Given the description of an element on the screen output the (x, y) to click on. 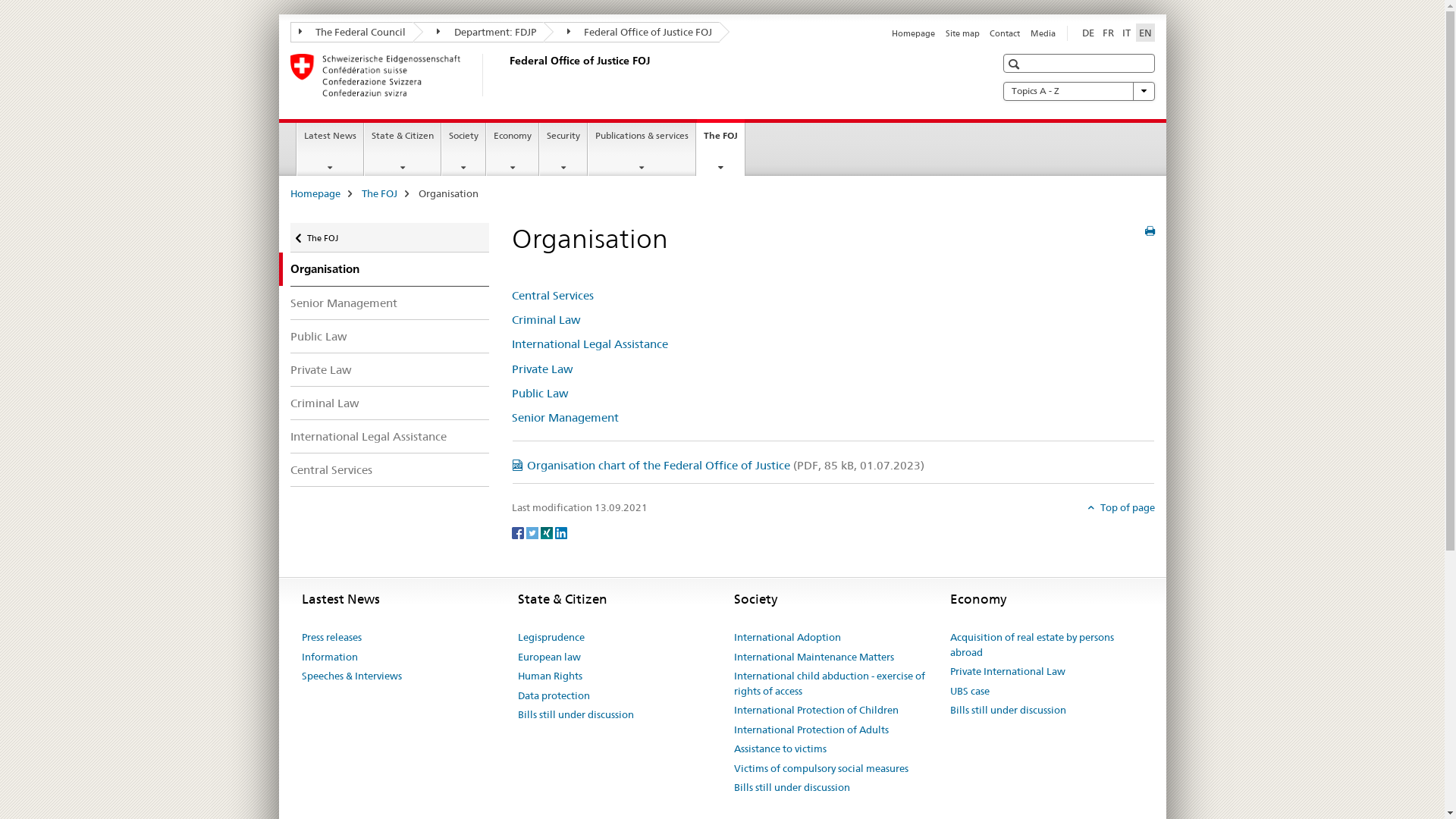
Central Services Element type: text (389, 469)
Senior Management Element type: text (564, 417)
Public Law Element type: text (389, 336)
Economy Element type: text (512, 148)
Private International Law Element type: text (1006, 671)
Public Law Element type: text (539, 392)
Latest News Element type: text (330, 148)
Contact Element type: text (1004, 33)
Homepage Element type: text (314, 193)
International Protection of Adults Element type: text (811, 730)
Private Law Element type: text (542, 368)
Criminal Law Element type: text (545, 319)
Security Element type: text (562, 148)
Print this page Element type: hover (1149, 230)
Senior Management Element type: text (389, 302)
International Legal Assistance Element type: text (389, 436)
UBS case Element type: text (968, 691)
Data protection Element type: text (553, 696)
Department: FDJP Element type: text (478, 31)
State & Citizen Element type: text (402, 148)
Speeches & Interviews Element type: text (351, 676)
Federal Office of Justice FOJ Element type: text (630, 31)
Private Law Element type: text (389, 369)
Bills still under discussion Element type: text (575, 714)
Homepage Element type: text (913, 33)
FR Element type: text (1108, 32)
Federal Office of Justice FOJ Element type: text (505, 74)
Publications & services Element type: text (641, 148)
Information Element type: text (329, 657)
Site map Element type: text (962, 33)
Society Element type: text (463, 148)
Bills still under discussion Element type: text (1007, 710)
Topics A - Z Element type: text (1078, 90)
Central Services Element type: text (552, 295)
IT Element type: text (1126, 32)
International child abduction - exercise of rights of access Element type: text (830, 683)
DE Element type: text (1087, 32)
Top of page Element type: text (1120, 507)
The FOJ Element type: text (378, 193)
Bills still under discussion Element type: text (792, 787)
Press releases Element type: text (331, 637)
The FOJ
current page Element type: text (720, 147)
International Maintenance Matters Element type: text (814, 657)
EN Element type: text (1144, 32)
European law Element type: text (548, 657)
Human Rights Element type: text (549, 676)
International Legal Assistance Element type: text (589, 343)
Victims of compulsory social measures Element type: text (821, 768)
The Federal Council Element type: text (351, 31)
Media Element type: text (1041, 33)
Acquisition of real estate by persons abroad Element type: text (1045, 644)
International Adoption Element type: text (787, 637)
International Protection of Children Element type: text (816, 710)
Assistance to victims Element type: text (780, 749)
Back
The FOJ Element type: text (389, 237)
Legisprudence Element type: text (550, 637)
Criminal Law Element type: text (389, 402)
